Given the description of an element on the screen output the (x, y) to click on. 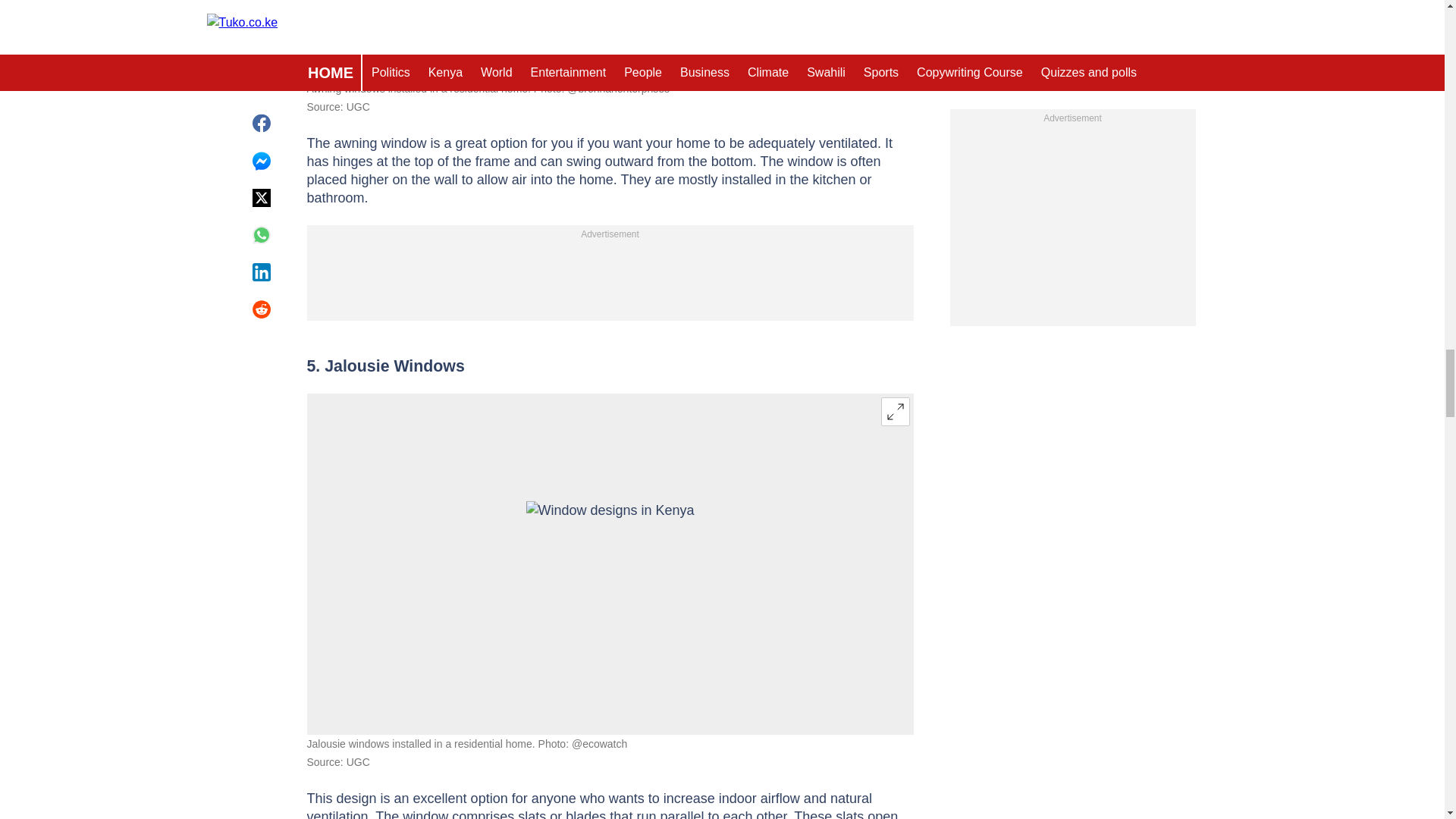
Window designs in Kenya (609, 563)
Expand image (895, 411)
